Given the description of an element on the screen output the (x, y) to click on. 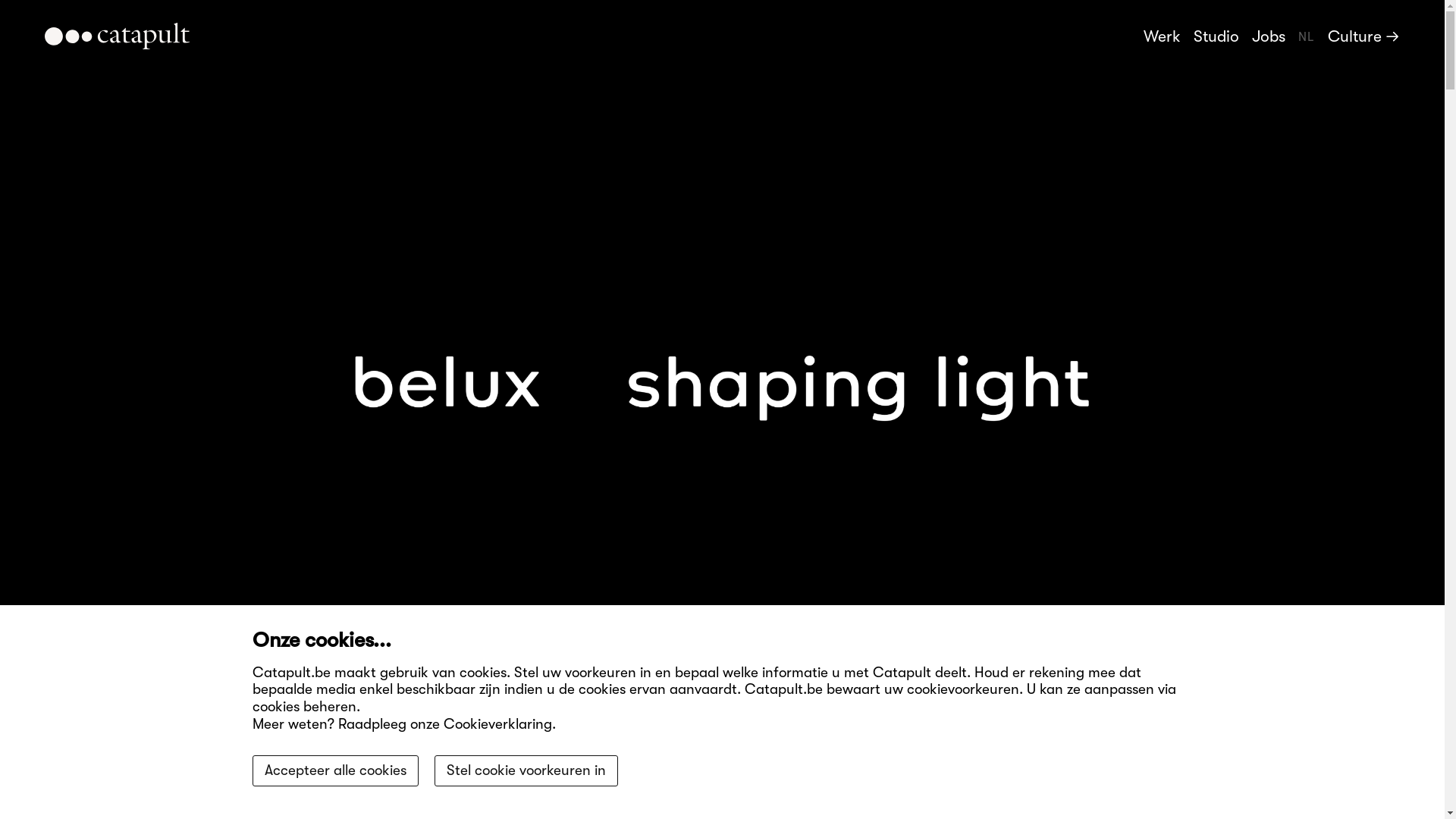
Stel cookie voorkeuren in Element type: text (526, 770)
Studio Element type: text (1216, 36)
Accepteer alle cookies Element type: text (335, 770)
Werk Element type: text (1161, 36)
Cookieverklaring Element type: text (497, 723)
Jobs Element type: text (1268, 36)
Culture Element type: text (1363, 36)
NL
EN Element type: text (1306, 43)
